Given the description of an element on the screen output the (x, y) to click on. 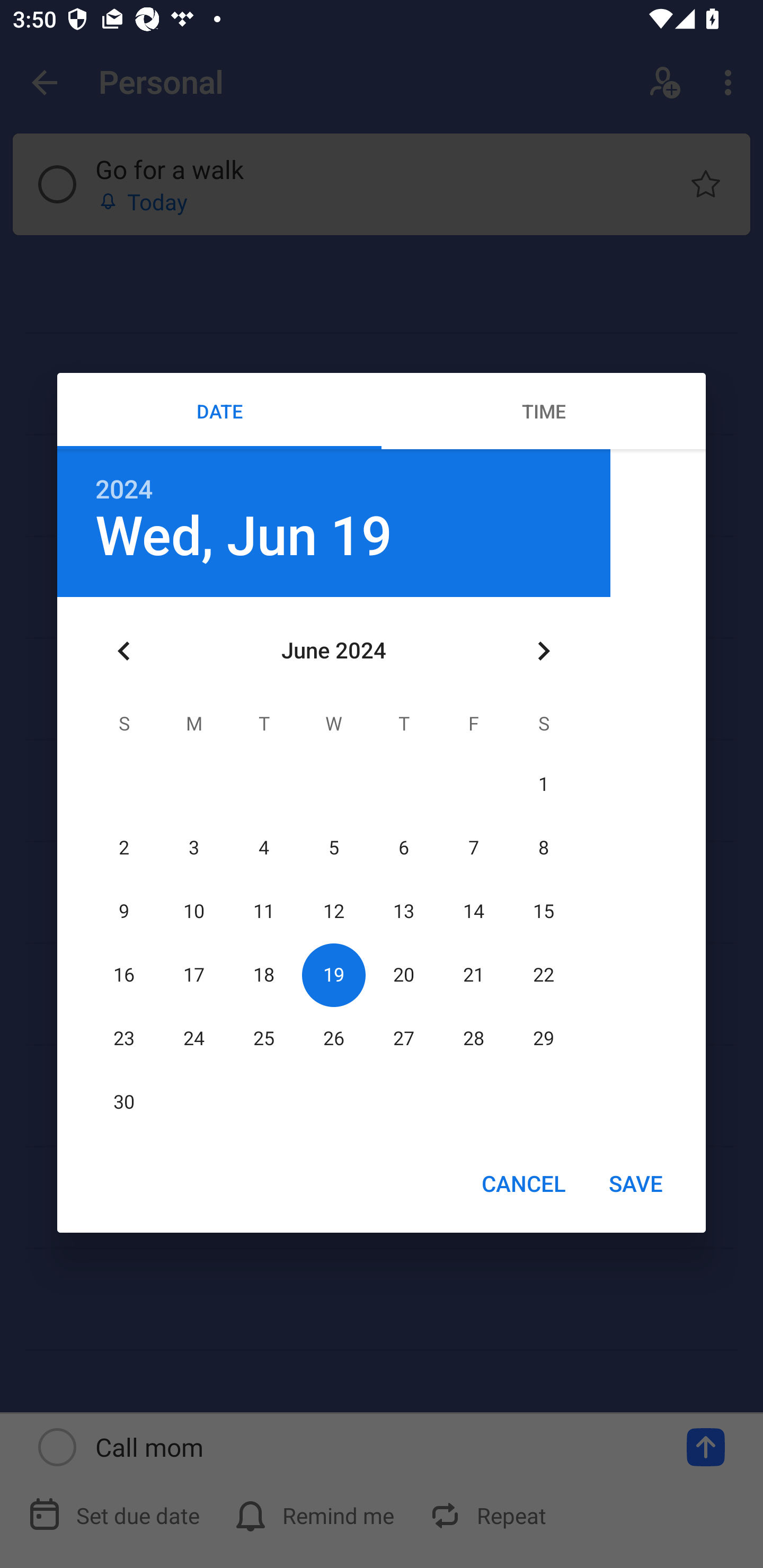
20 20 June 2024 (403, 974)
